Given the description of an element on the screen output the (x, y) to click on. 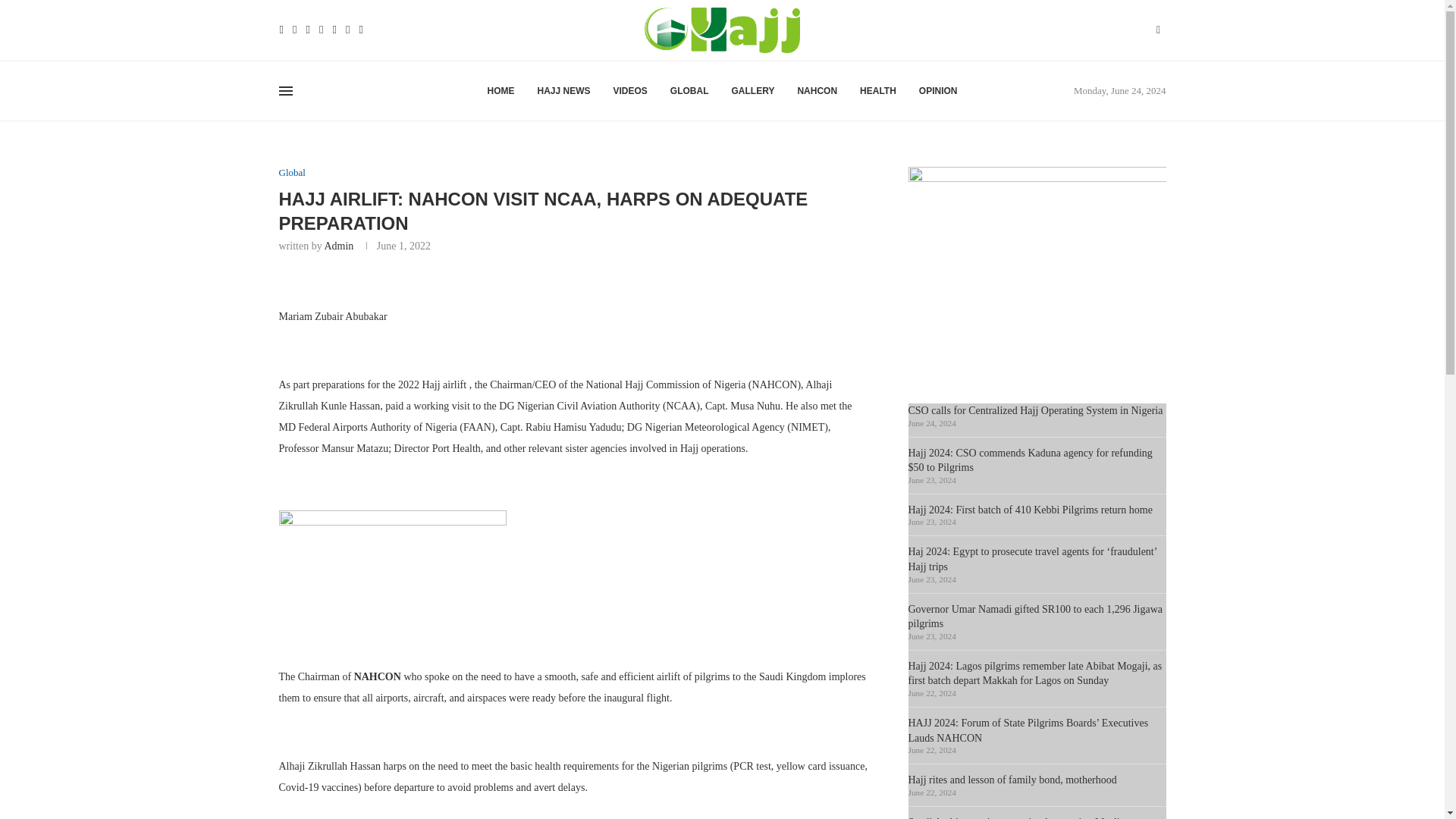
OPINION (938, 90)
NAHCON (816, 90)
HOME (499, 90)
HEALTH (878, 90)
GLOBAL (689, 90)
VIDEOS (629, 90)
HAJJ NEWS (563, 90)
GALLERY (753, 90)
